Given the description of an element on the screen output the (x, y) to click on. 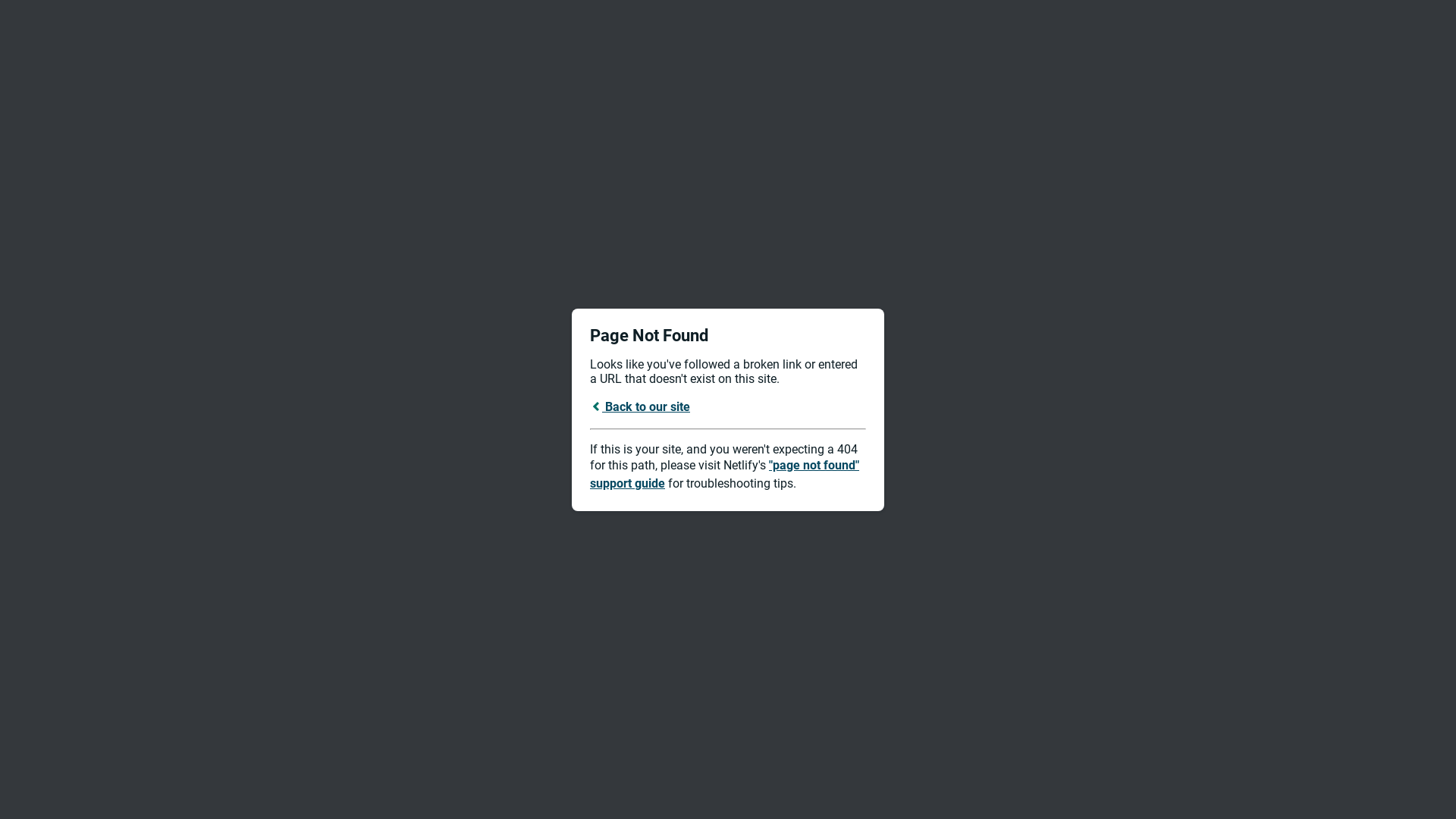
Back to our site Element type: text (639, 405)
"page not found" support guide Element type: text (724, 474)
